Given the description of an element on the screen output the (x, y) to click on. 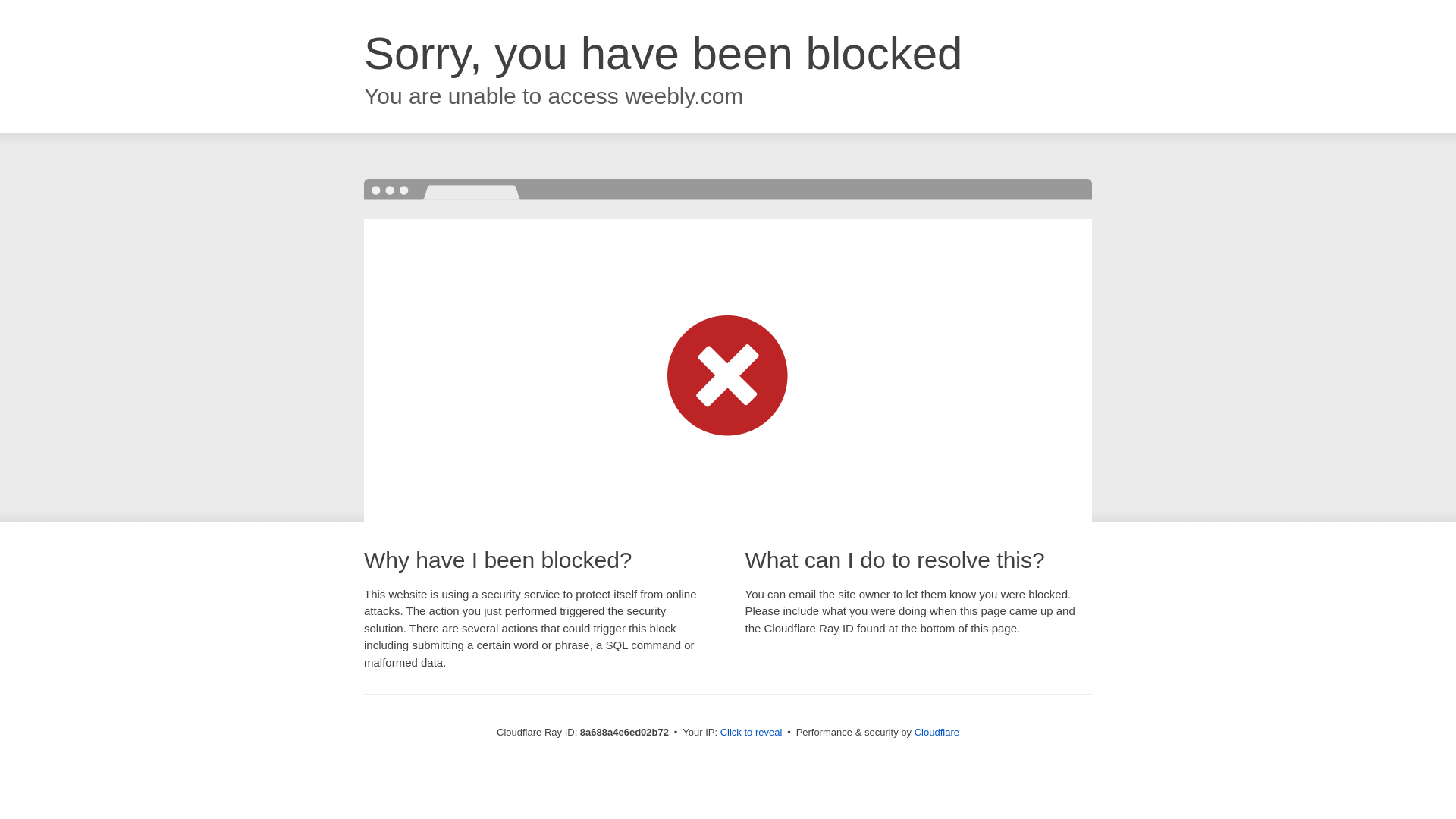
Cloudflare (936, 731)
Click to reveal (751, 732)
